Given the description of an element on the screen output the (x, y) to click on. 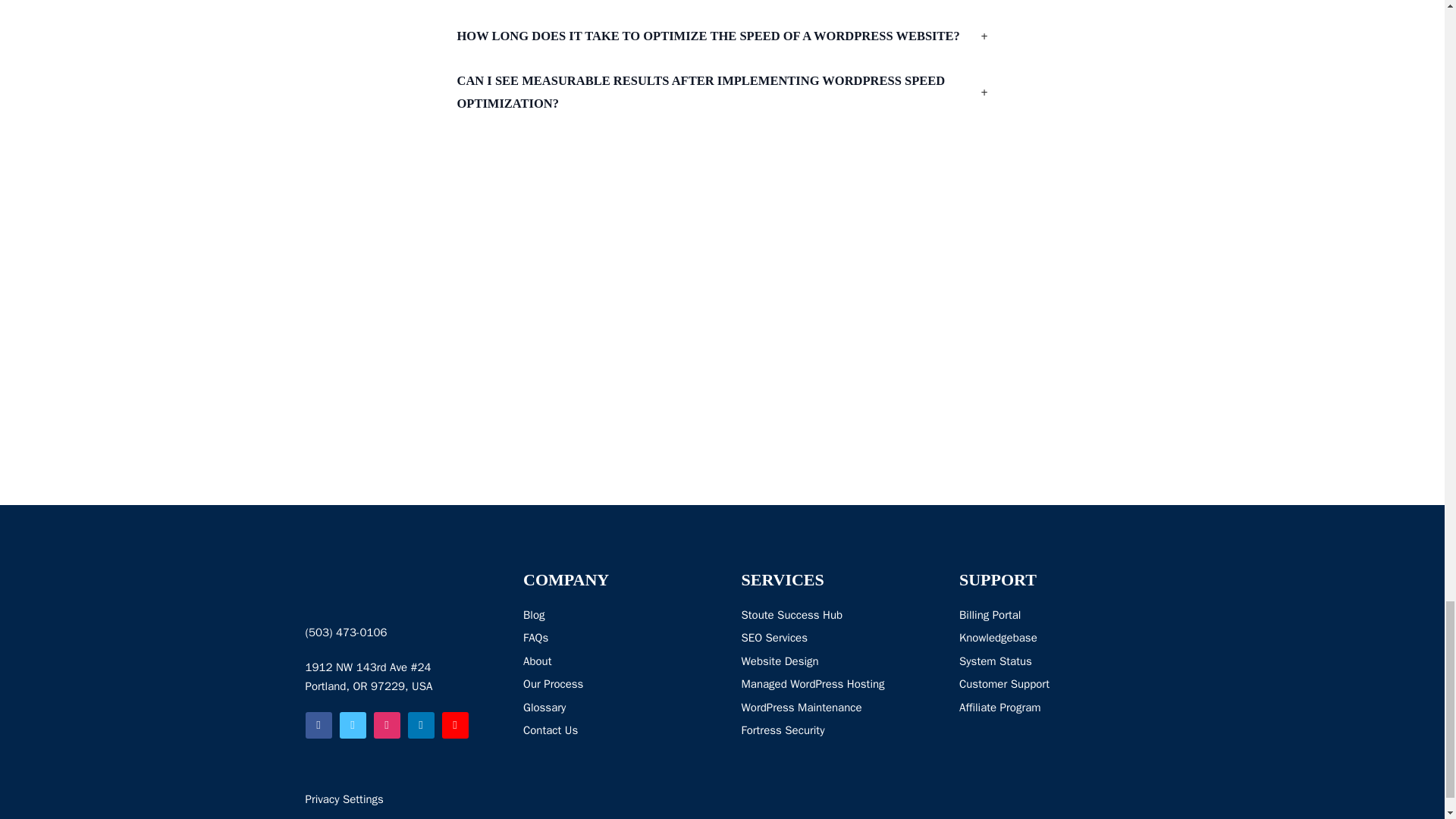
Glossary (552, 708)
Contact Us (552, 731)
Blog (552, 615)
Our Process (552, 684)
Stoute Success Hub (813, 615)
FAQs (552, 638)
About (552, 661)
